Given the description of an element on the screen output the (x, y) to click on. 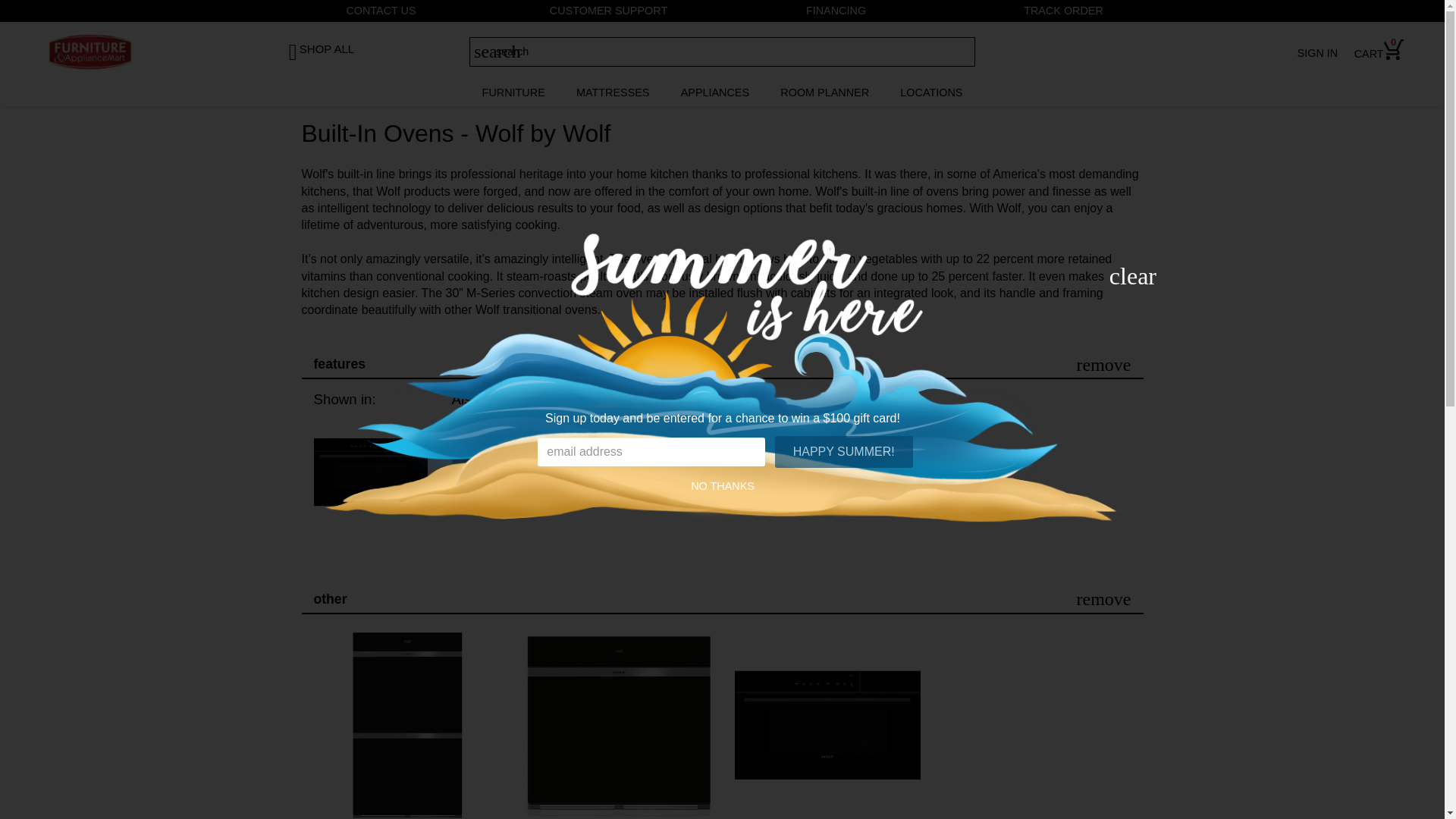
CONTACT US (381, 10)
View Larger Image (371, 471)
View Larger Image (508, 471)
SHOP ALL (334, 45)
HAPPY SUMMER! (843, 451)
FINANCING (836, 10)
CUSTOMER SUPPORT (608, 10)
Click to view this Item. (617, 725)
TRACK ORDER (1063, 10)
Click to view this Item. (406, 725)
Click to view this Item. (826, 725)
